Given the description of an element on the screen output the (x, y) to click on. 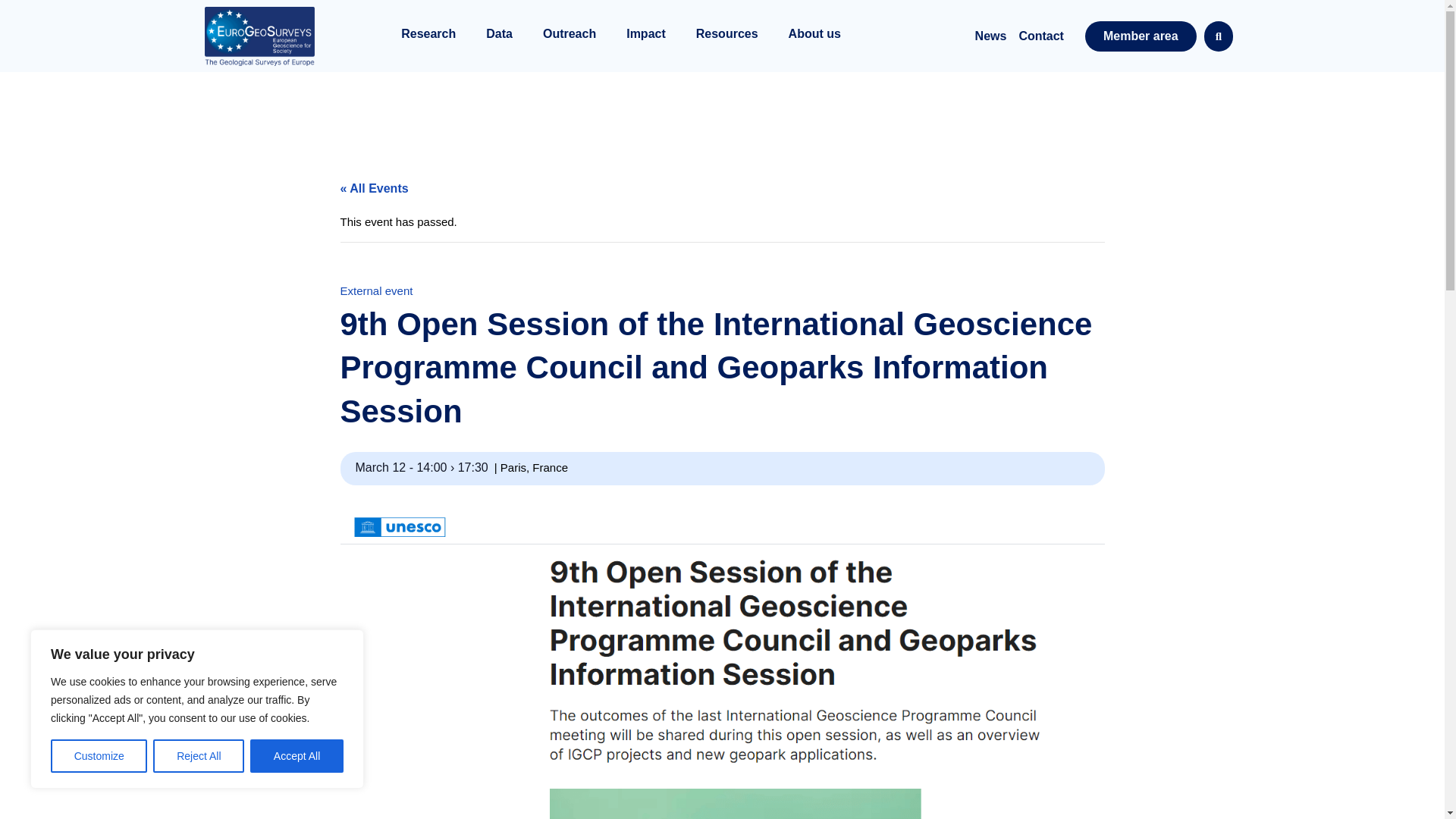
Accept All (296, 756)
Customize (98, 756)
Reject All (198, 756)
Outreach (569, 36)
Research (427, 36)
